Given the description of an element on the screen output the (x, y) to click on. 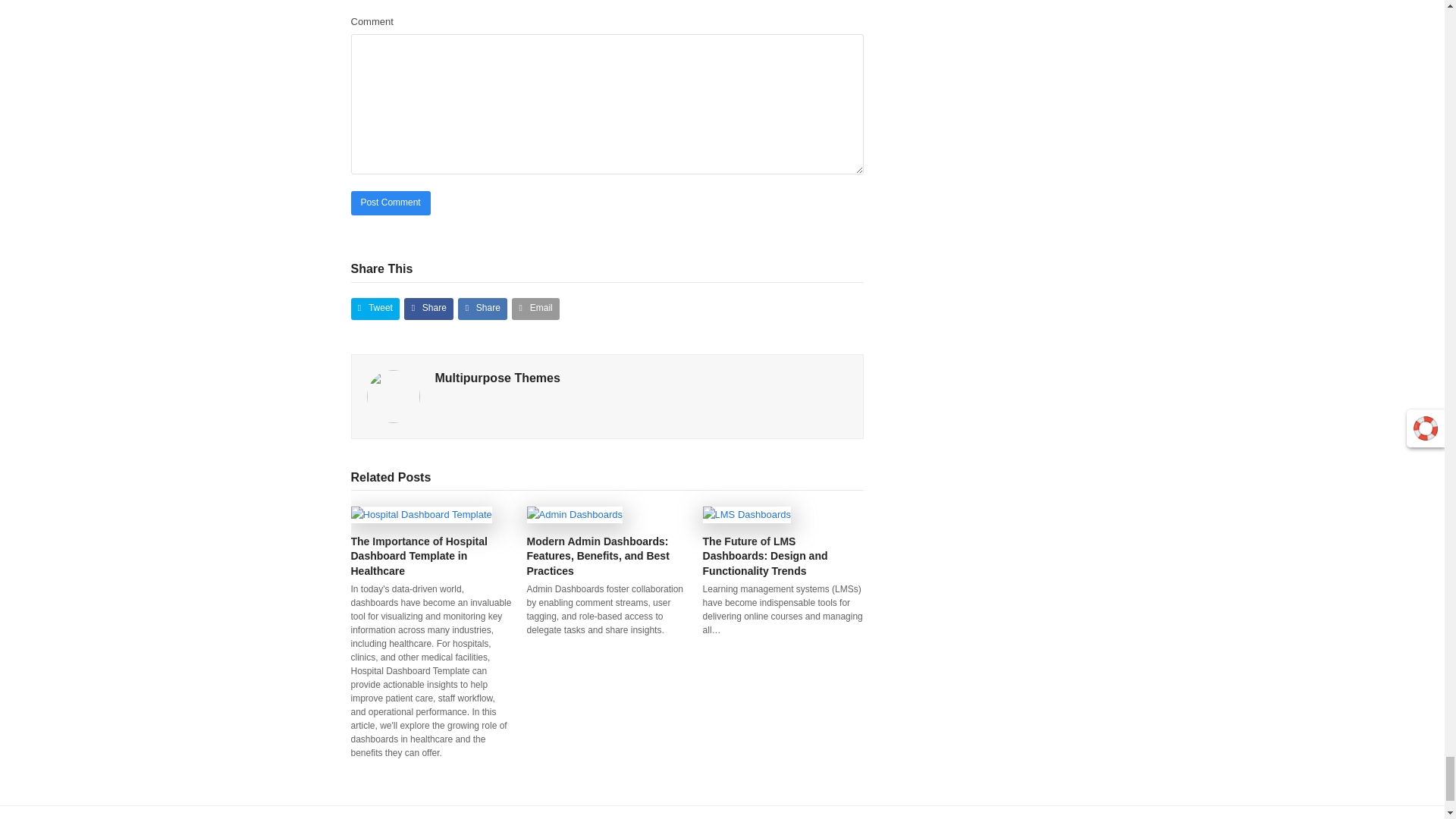
The Importance of Hospital Dashboard Template in Healthcare (421, 513)
Post Comment (389, 203)
Visit Author Page (393, 395)
Visit Author Page (497, 377)
